Given the description of an element on the screen output the (x, y) to click on. 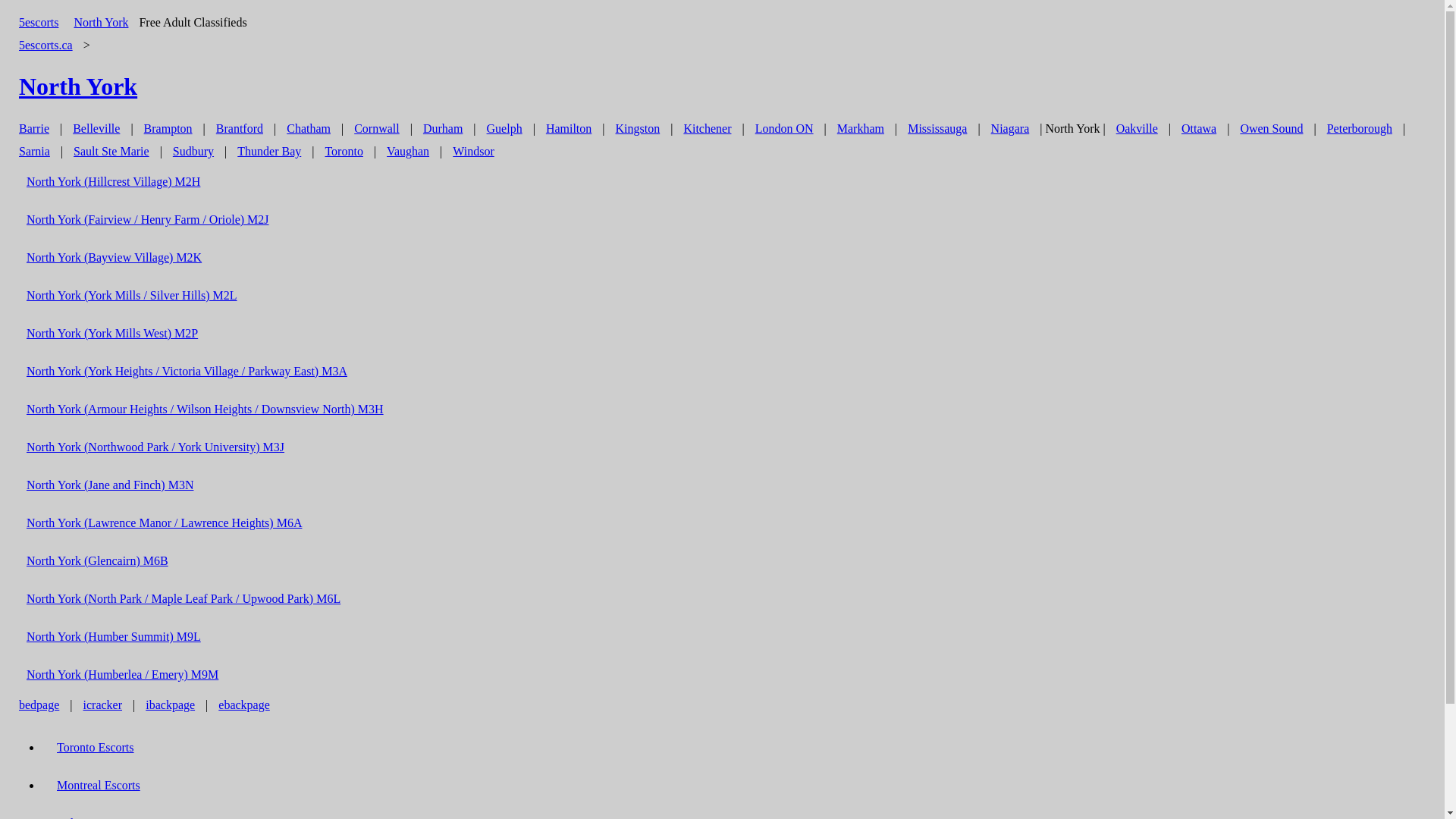
5escorts Element type: text (38, 22)
North York Element type: text (100, 22)
North York (Northwood Park / York University) M3J Element type: text (154, 447)
Sault Ste Marie Element type: text (110, 151)
North York (Hillcrest Village) M2H Element type: text (112, 181)
Sudbury Element type: text (193, 151)
North York (Glencairn) M6B Element type: text (96, 560)
ebackpage Element type: text (243, 704)
North York (Bayview Village) M2K Element type: text (113, 257)
Kingston Element type: text (638, 128)
North York (York Mills / Silver Hills) M2L Element type: text (131, 295)
Mississauga Element type: text (937, 128)
Montreal Escorts Element type: text (98, 785)
North York (North Park / Maple Leaf Park / Upwood Park) M6L Element type: text (183, 598)
Owen Sound Element type: text (1271, 128)
North York (Humberlea / Emery) M9M Element type: text (121, 674)
North York (York Mills West) M2P Element type: text (111, 333)
Toronto Escorts Element type: text (95, 747)
5escorts.ca Element type: text (45, 45)
Windsor Element type: text (473, 151)
North York Element type: text (77, 86)
London ON Element type: text (784, 128)
Oakville Element type: text (1136, 128)
North York (Lawrence Manor / Lawrence Heights) M6A Element type: text (163, 522)
Kitchener Element type: text (706, 128)
Belleville Element type: text (96, 128)
Brampton Element type: text (168, 128)
North York (Fairview / Henry Farm / Oriole) M2J Element type: text (147, 219)
Durham Element type: text (442, 128)
icracker Element type: text (102, 704)
Barrie Element type: text (33, 128)
Cornwall Element type: text (376, 128)
Markham Element type: text (860, 128)
Hamilton Element type: text (568, 128)
Guelph Element type: text (504, 128)
Ottawa Element type: text (1198, 128)
Thunder Bay Element type: text (268, 151)
North York (Humber Summit) M9L Element type: text (113, 636)
Vaughan Element type: text (407, 151)
Peterborough Element type: text (1359, 128)
Chatham Element type: text (308, 128)
ibackpage Element type: text (170, 704)
Brantford Element type: text (239, 128)
Toronto Element type: text (343, 151)
Niagara Element type: text (1010, 128)
Sarnia Element type: text (34, 151)
bedpage Element type: text (38, 704)
North York (Jane and Finch) M3N Element type: text (109, 484)
